Given the description of an element on the screen output the (x, y) to click on. 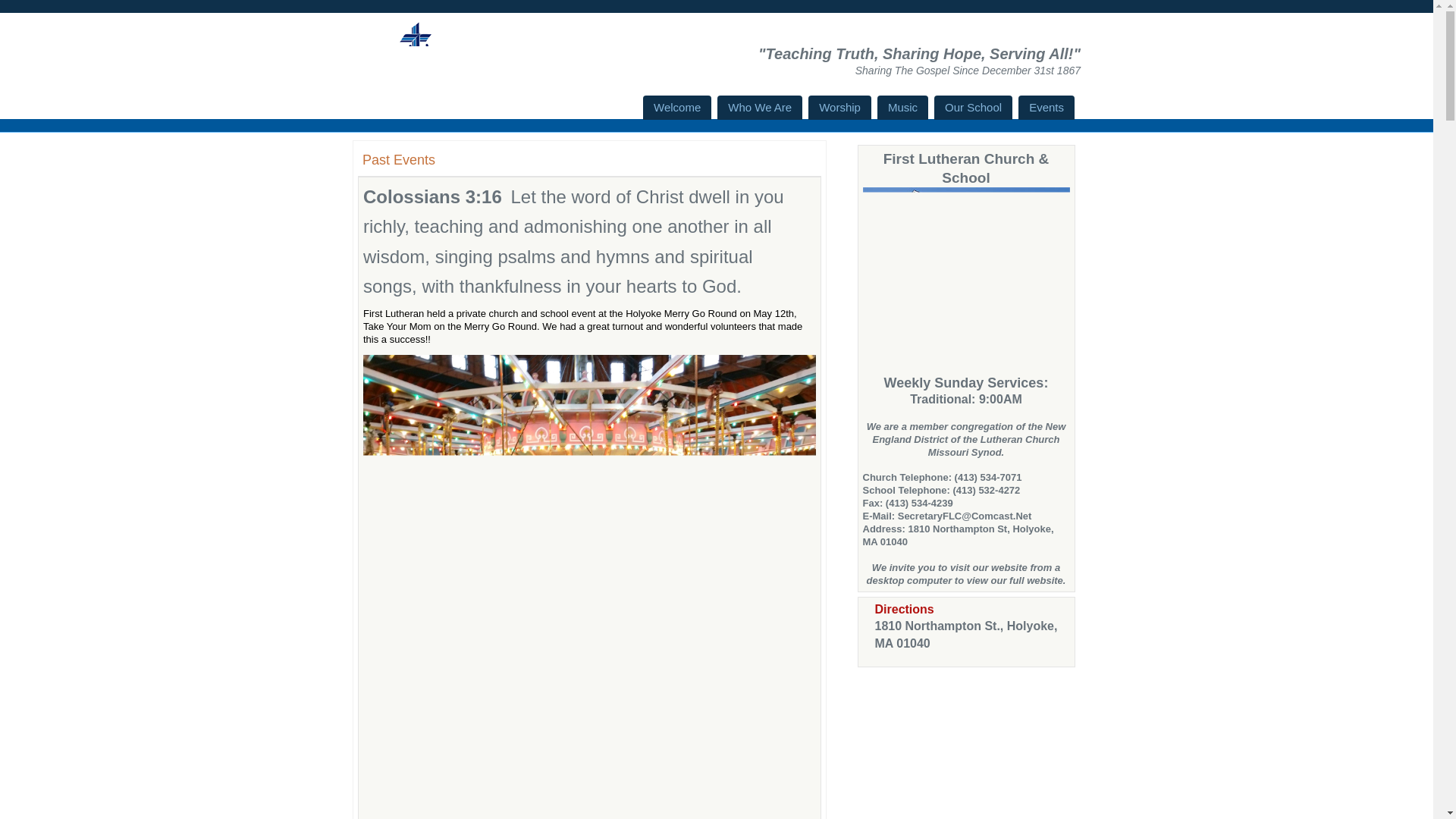
Who We Are (759, 107)
Events (1045, 107)
Welcome (677, 107)
Our School (972, 107)
Skip To Content (668, 109)
Skip to content (668, 109)
Music (902, 107)
Worship (839, 107)
